Given the description of an element on the screen output the (x, y) to click on. 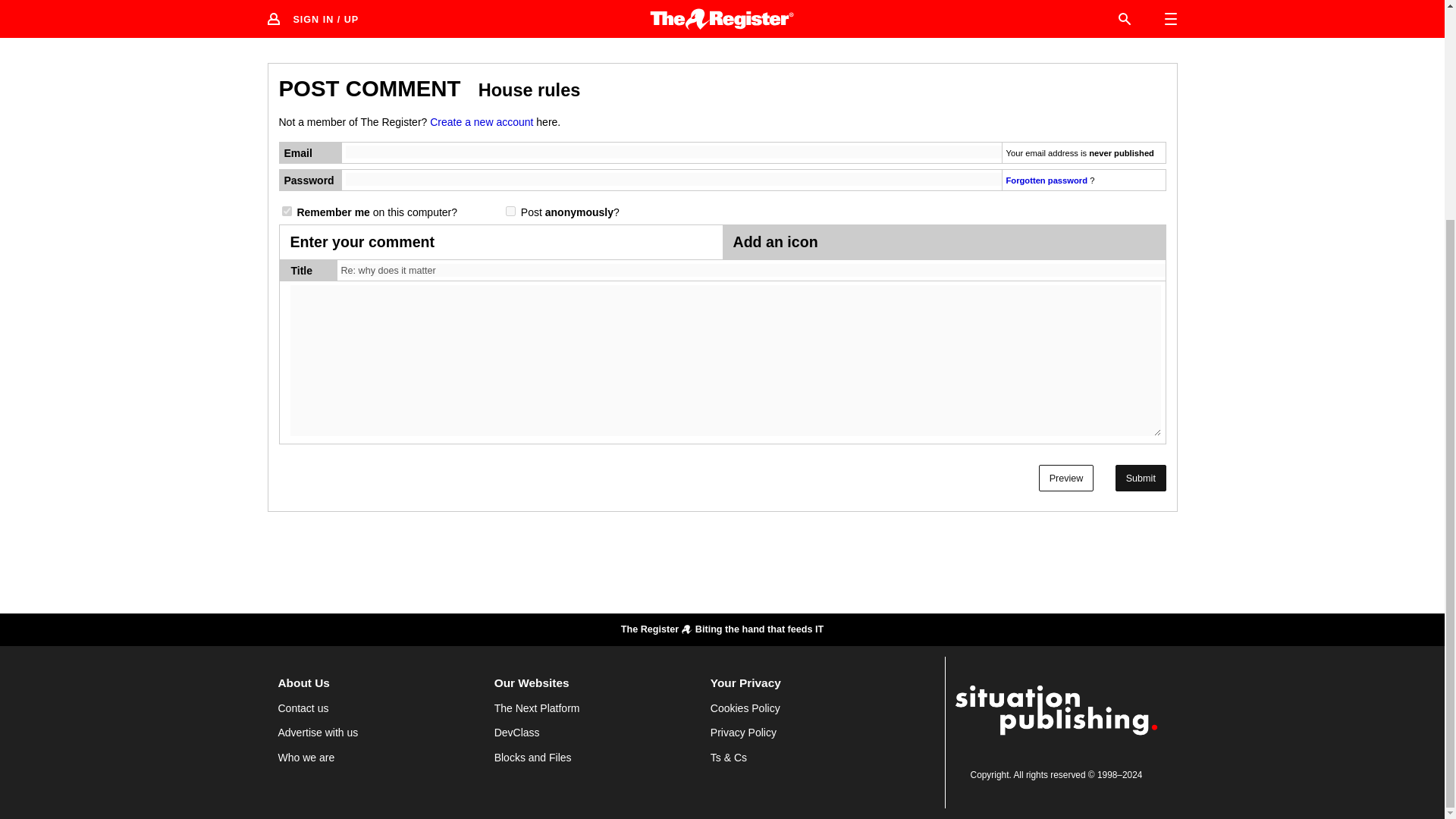
1 (287, 211)
Re: why does it matter (753, 270)
1 (510, 211)
Submit (1140, 478)
Preview (1066, 478)
